Given the description of an element on the screen output the (x, y) to click on. 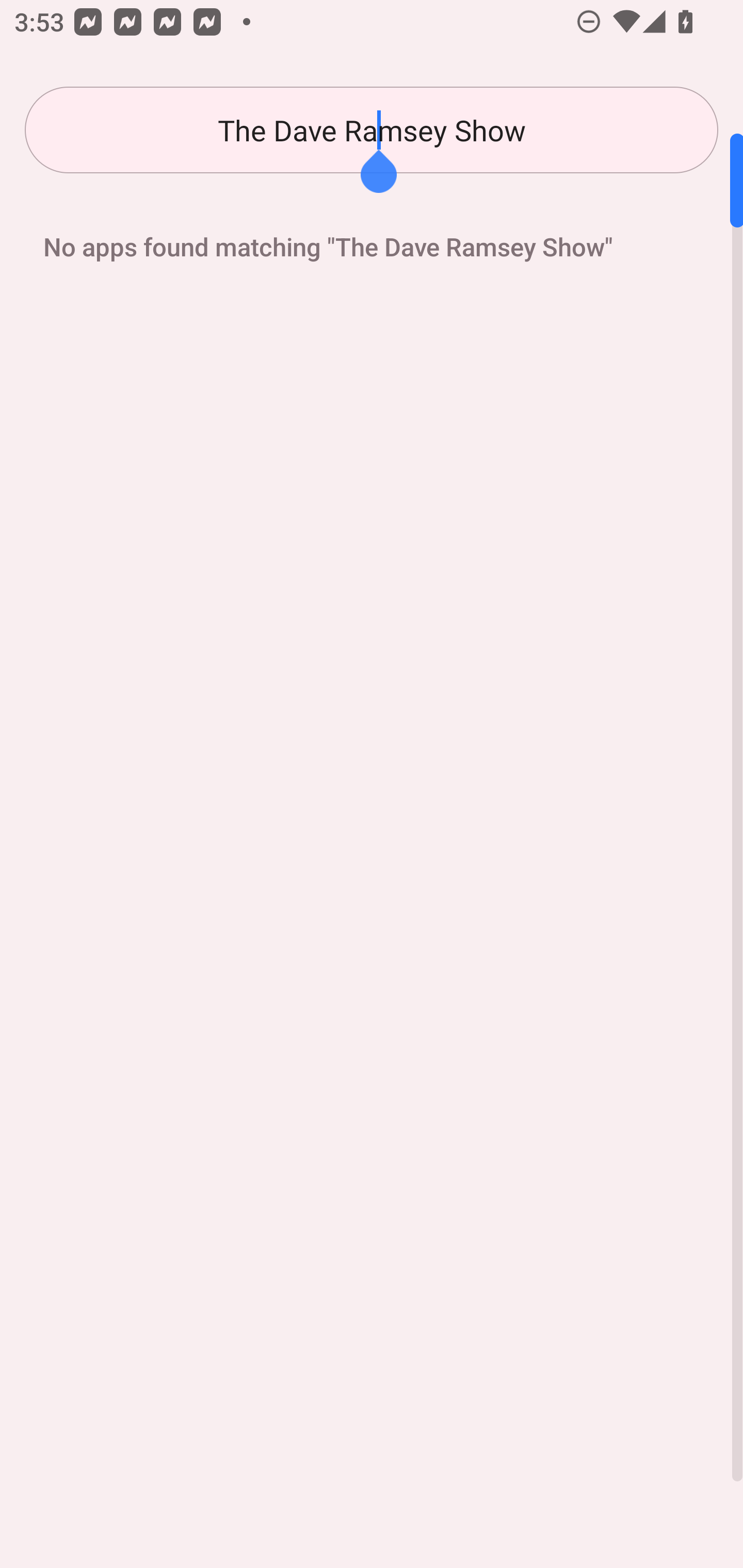
The Dave Ramsey Show (371, 130)
